Given the description of an element on the screen output the (x, y) to click on. 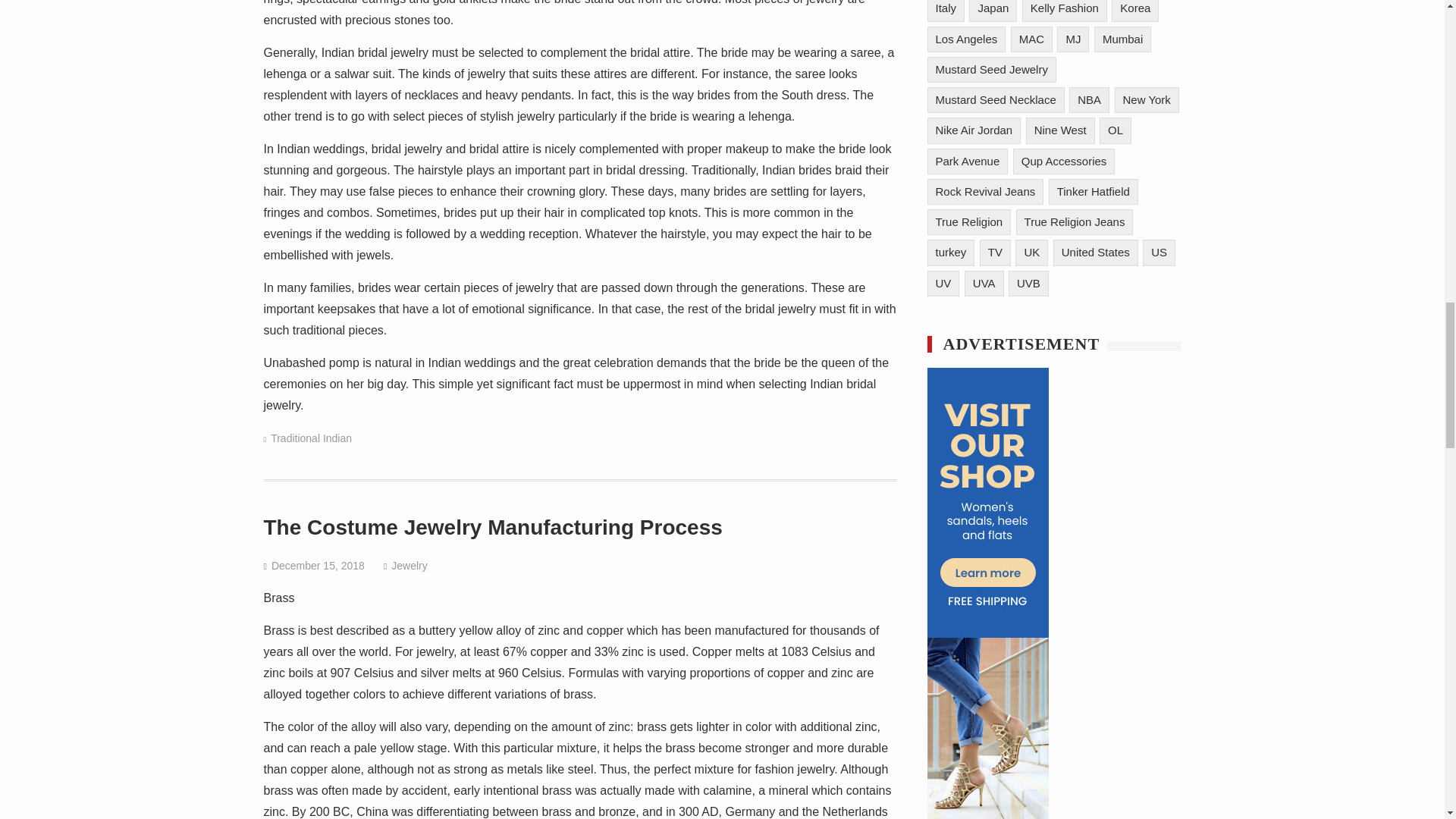
The Costume Jewelry Manufacturing Process (492, 526)
December 15, 2018 (317, 565)
Traditional Indian (311, 438)
